Given the description of an element on the screen output the (x, y) to click on. 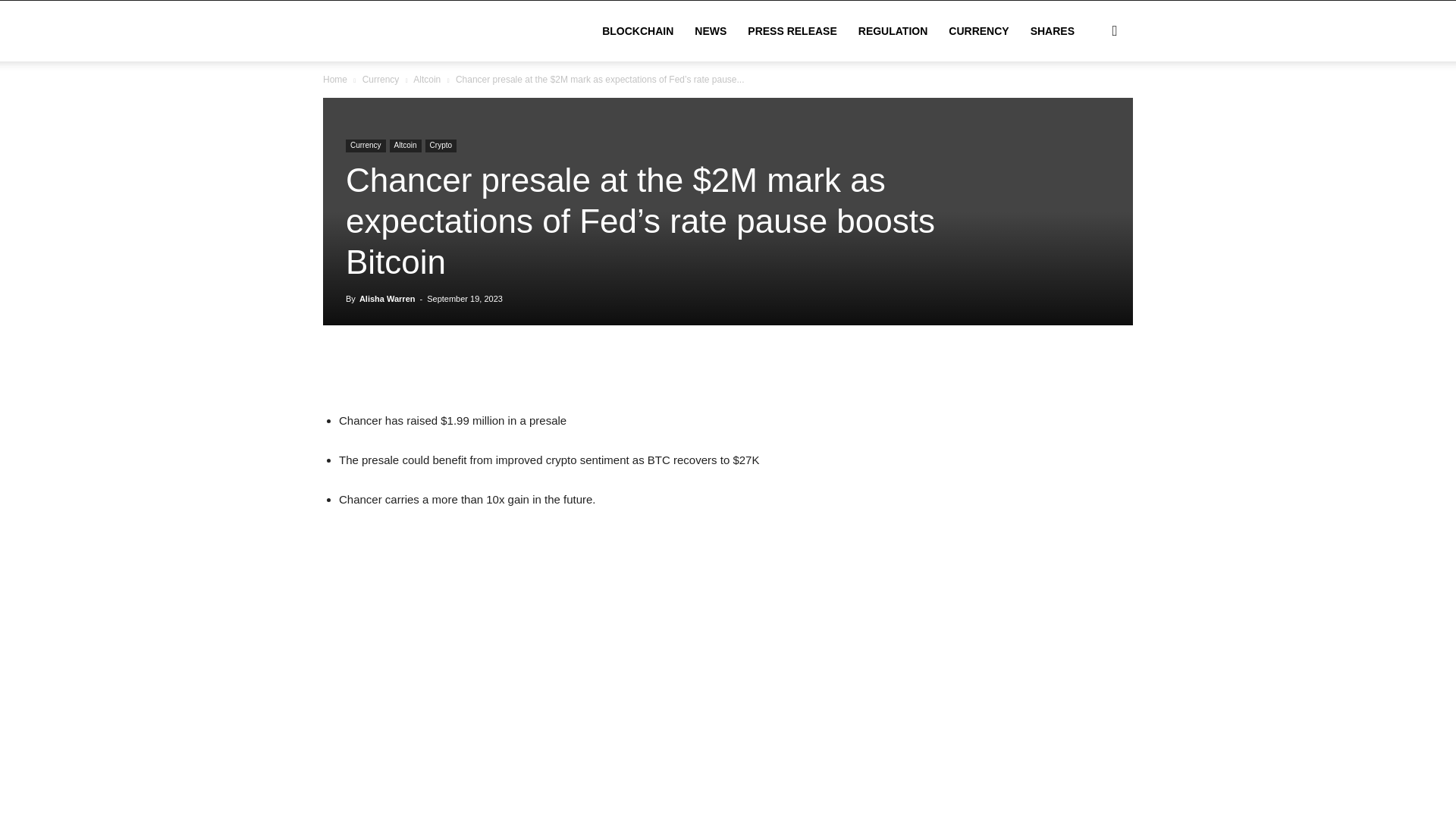
BLOCKCHAIN (637, 30)
Altcoin (427, 79)
CURRENCY (978, 30)
REGULATION (893, 30)
Search (1091, 103)
Currency (365, 145)
SHARES (1052, 30)
Altcoin (406, 145)
PRESS RELEASE (791, 30)
View all posts in Currency (380, 79)
View all posts in Altcoin (427, 79)
Home (335, 79)
Alisha Warren (386, 298)
Currency (380, 79)
Crypto (441, 145)
